Given the description of an element on the screen output the (x, y) to click on. 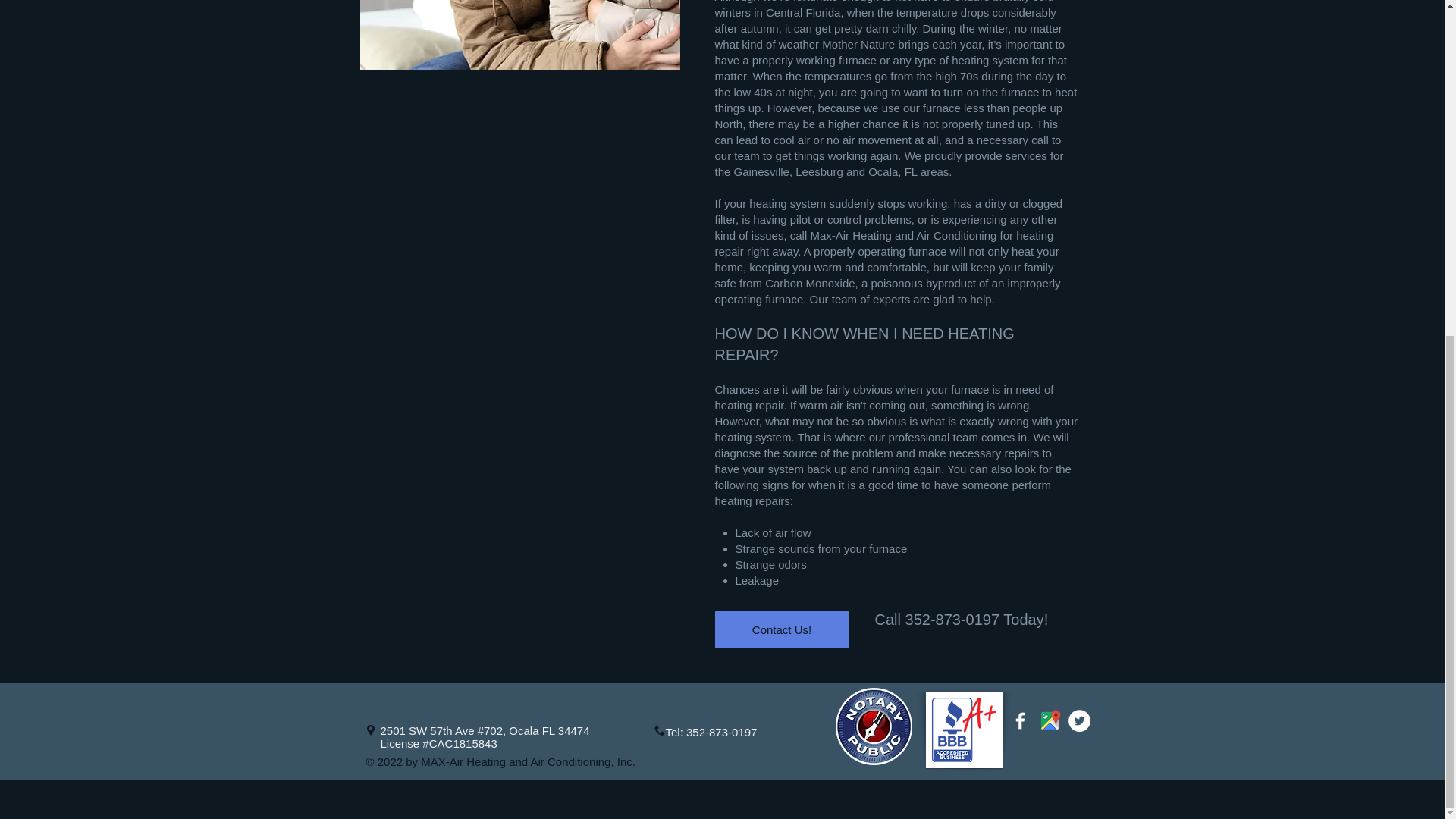
Contact Us! (781, 628)
Leesburg (818, 171)
Gainesville (761, 171)
Ocala, FL (892, 171)
